Given the description of an element on the screen output the (x, y) to click on. 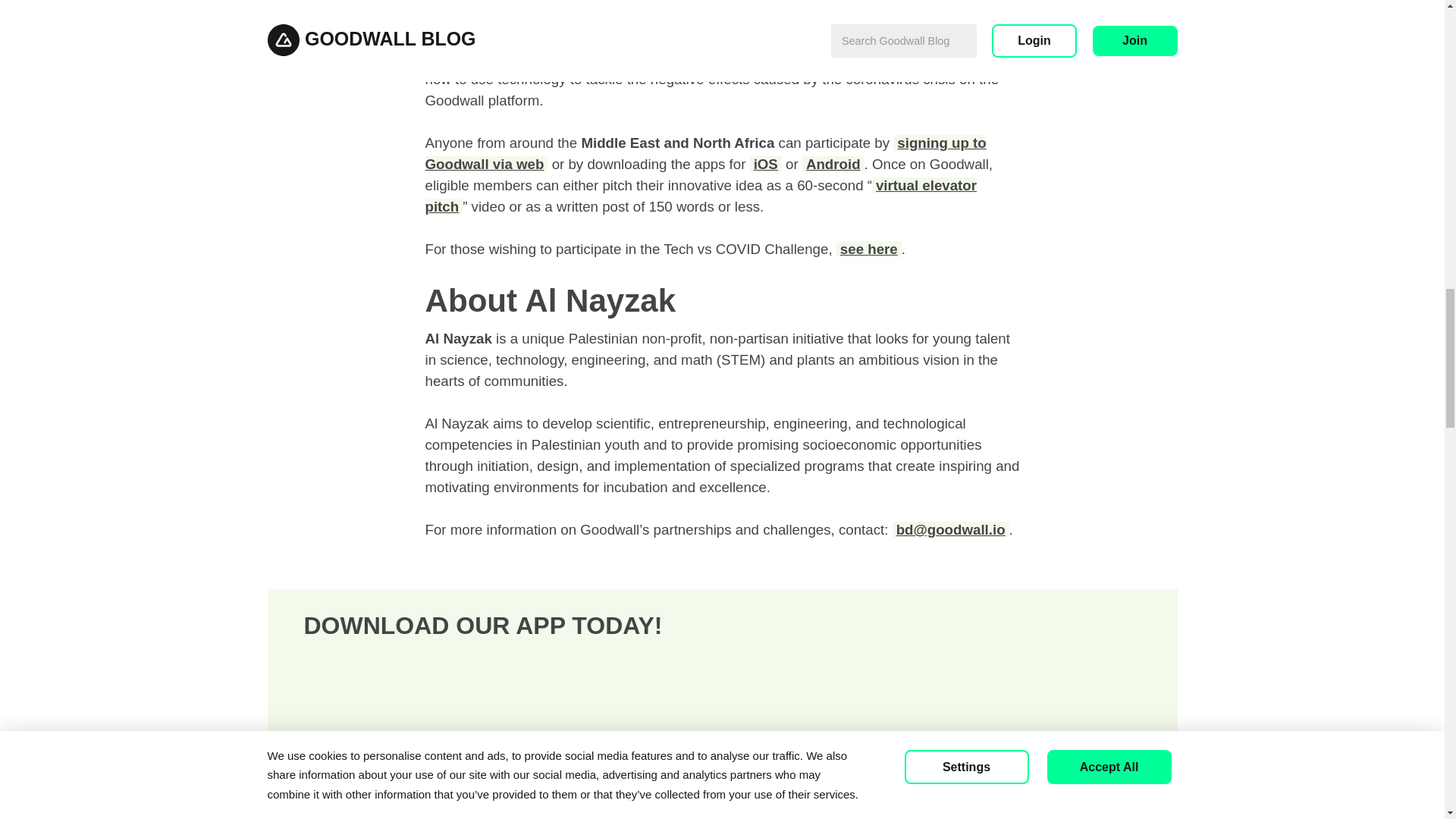
Android (833, 163)
iOS (765, 163)
virtual elevator pitch (700, 195)
see here (868, 248)
signing up to Goodwall via web (705, 153)
